Given the description of an element on the screen output the (x, y) to click on. 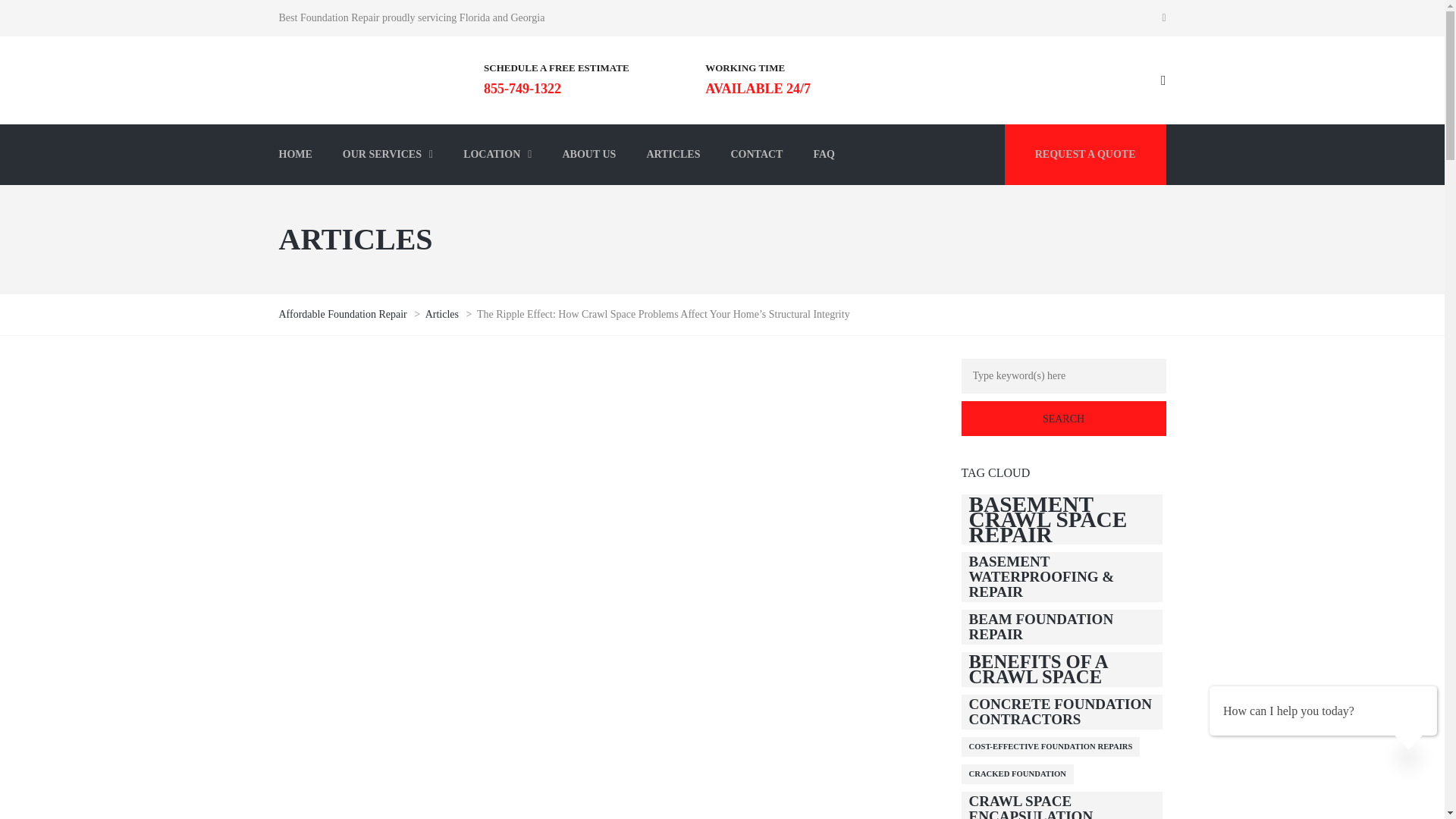
855-749-1322 (521, 88)
CONTACT (755, 154)
Go to the Articles Category archives. (443, 314)
Articles (443, 314)
LOCATION (497, 154)
REQUEST A QUOTE (1085, 154)
Go to Affordable Foundation Repair. (344, 314)
Search (1063, 418)
OUR SERVICES (387, 154)
Affordable Foundation Repair (344, 314)
